Given the description of an element on the screen output the (x, y) to click on. 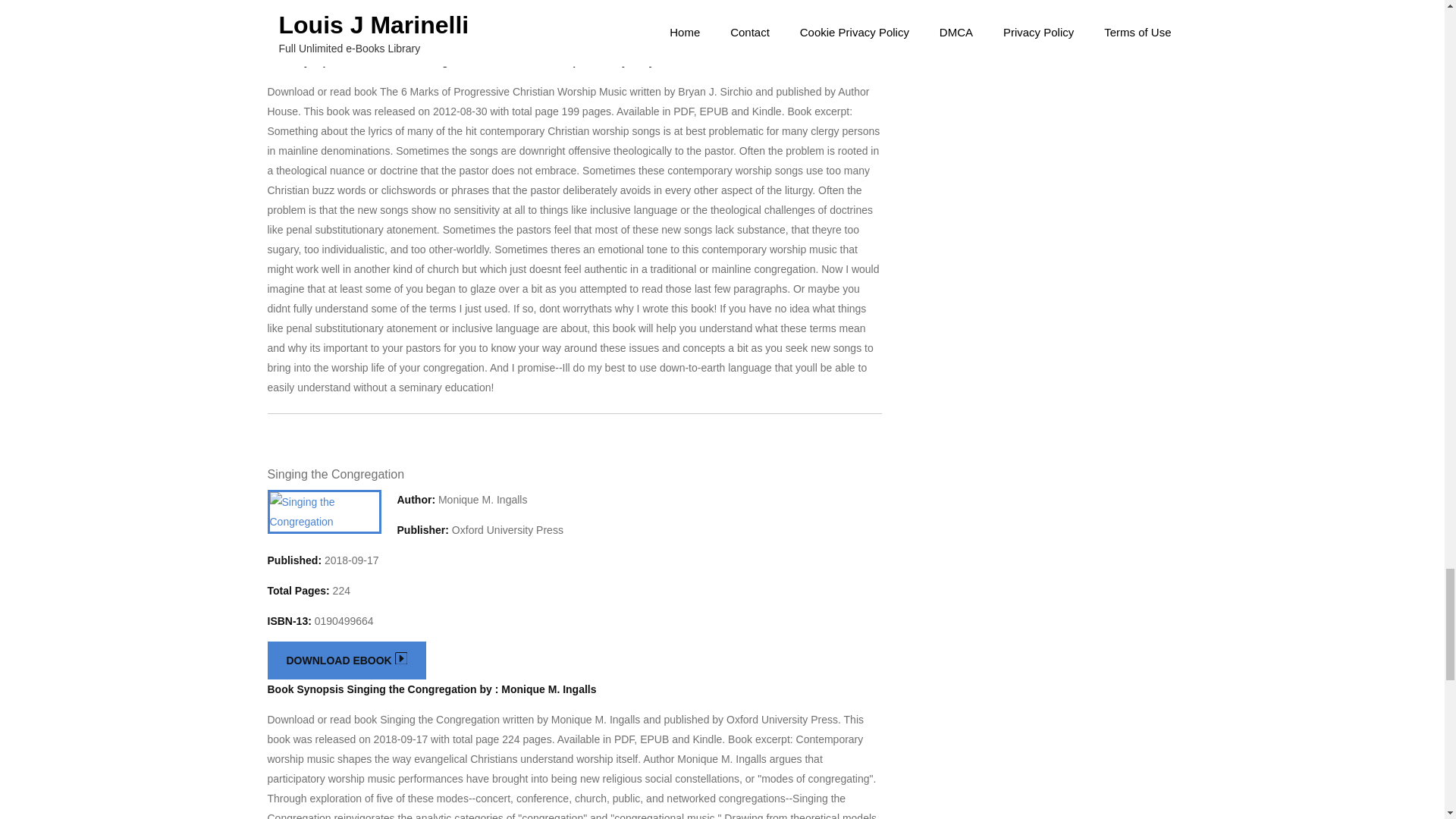
Singing the Congregation (335, 473)
DOWNLOAD EBOOK (346, 660)
DOWNLOAD EBOOK (346, 32)
